Given the description of an element on the screen output the (x, y) to click on. 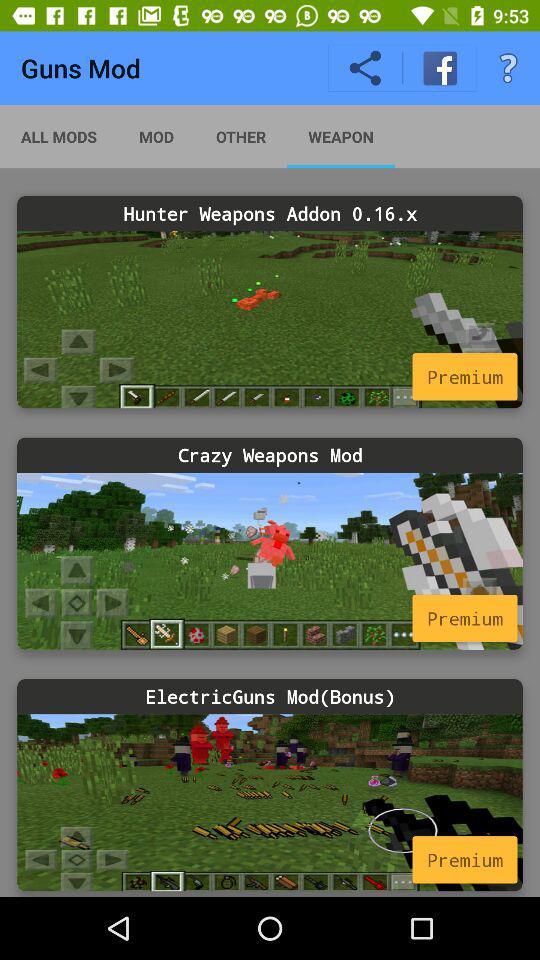
choose hunter weapons addon 0.16.x (269, 319)
